Given the description of an element on the screen output the (x, y) to click on. 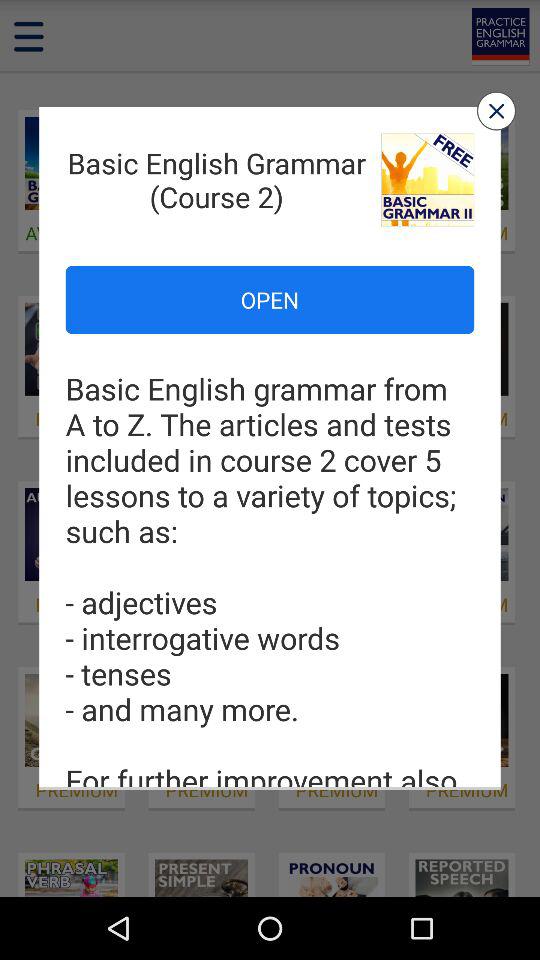
close pop up box (496, 110)
